Given the description of an element on the screen output the (x, y) to click on. 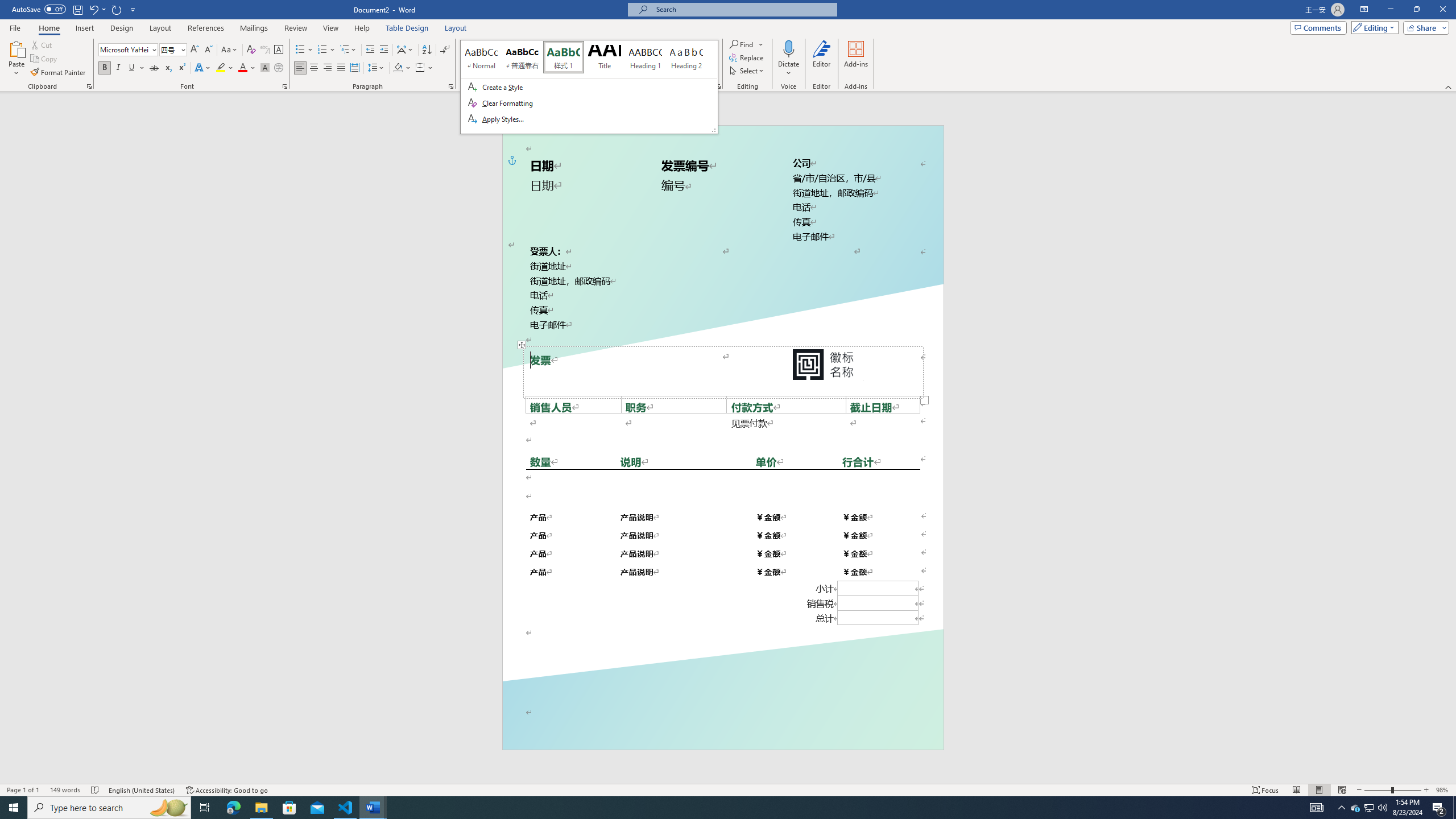
Font Color RGB(255, 0, 0) (241, 67)
Page Number Page 1 of 1 (22, 790)
